Given the description of an element on the screen output the (x, y) to click on. 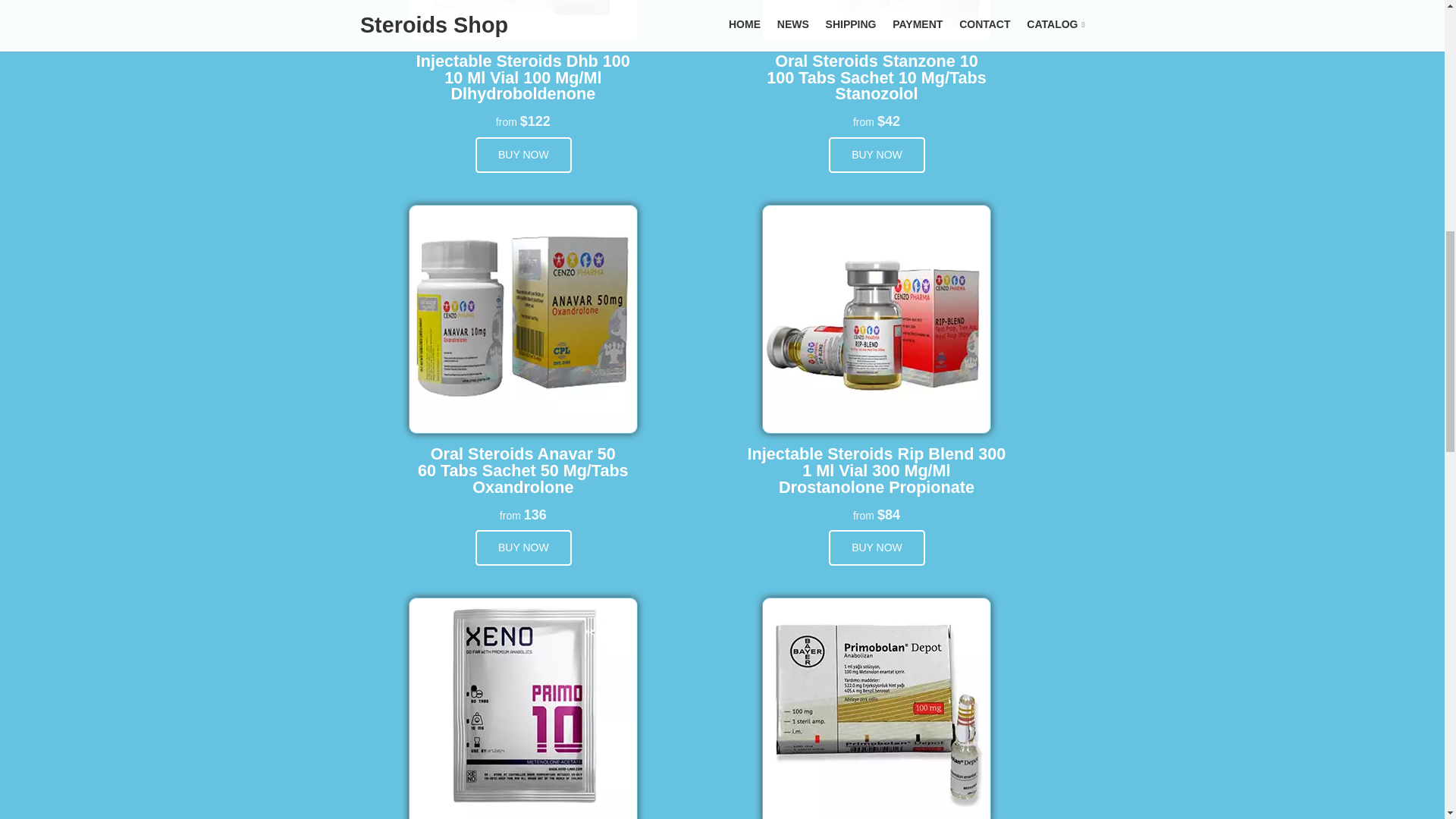
BUY NOW (524, 547)
BUY NOW (876, 547)
BUY NOW (524, 154)
BUY NOW (876, 154)
